Given the description of an element on the screen output the (x, y) to click on. 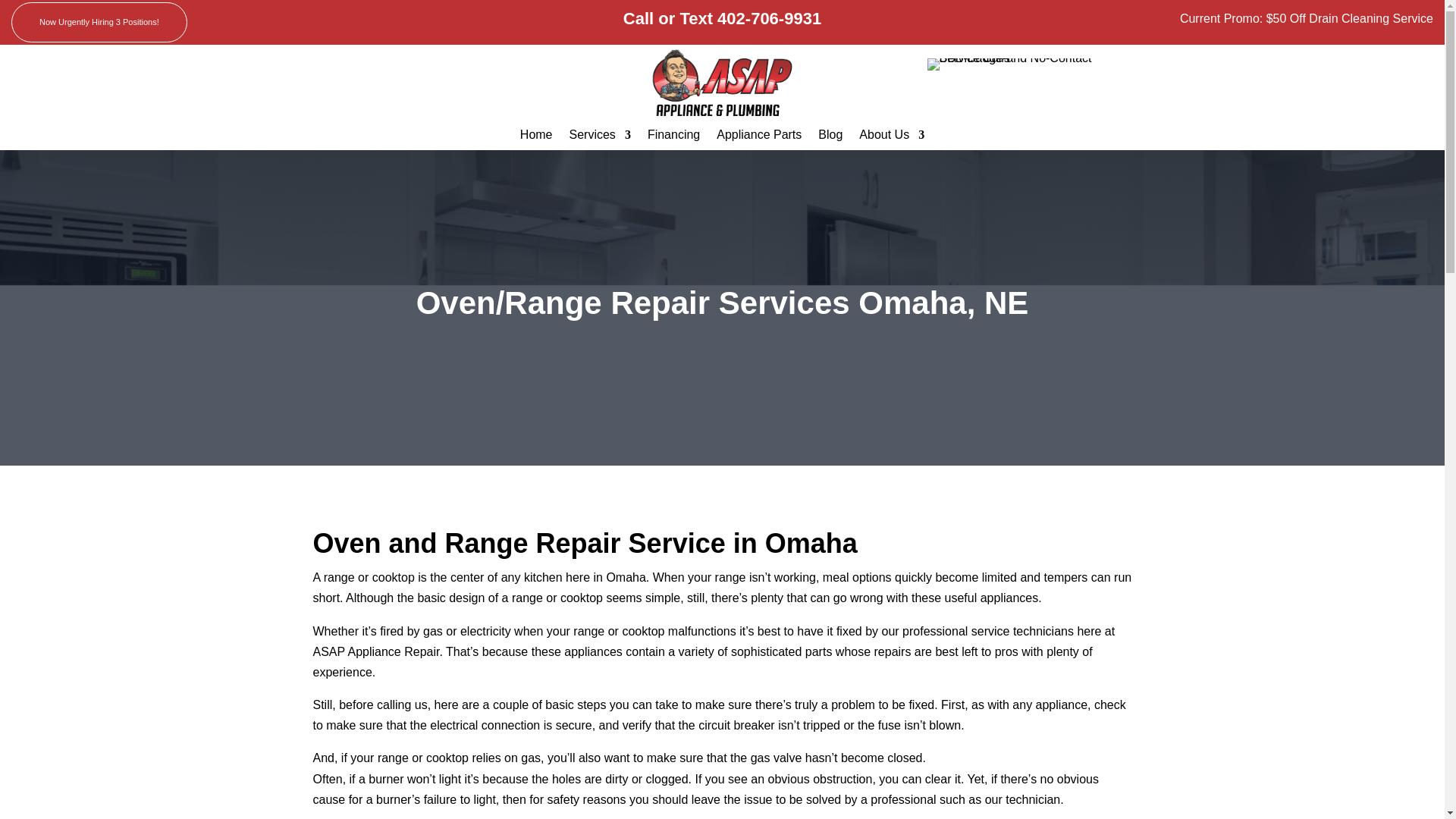
ASAP-LOGO (722, 82)
Financing (673, 137)
Now Urgently Hiring 3 Positions! (99, 22)
Services (599, 137)
402-706-9931 (769, 18)
BBB-Badge (1017, 64)
Appliance Parts (759, 137)
About Us (891, 137)
Blog (830, 137)
Home (536, 137)
